Given the description of an element on the screen output the (x, y) to click on. 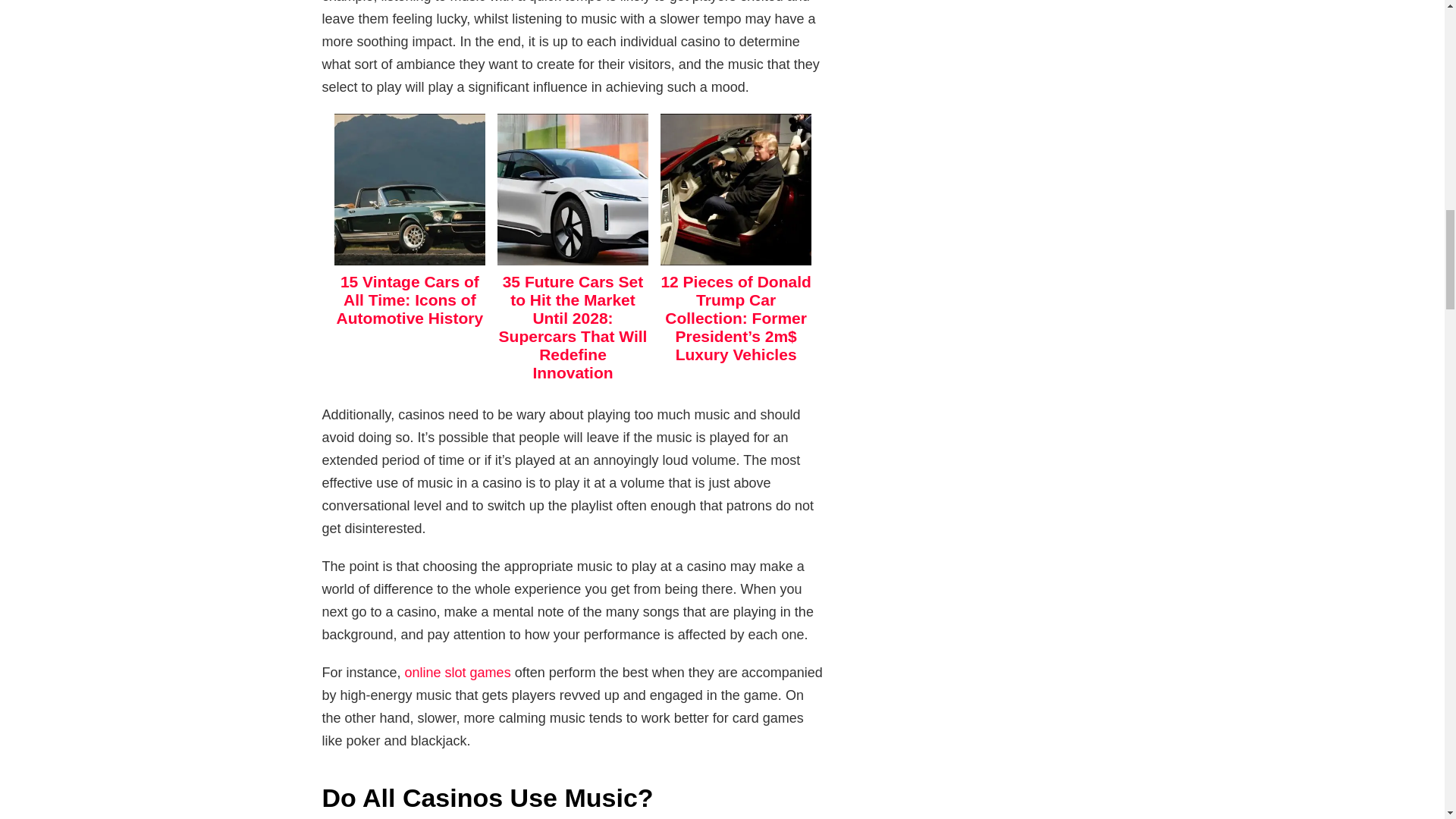
15 Vintage Cars of All Time: Icons of Automotive History (409, 299)
online slot games (457, 672)
